Given the description of an element on the screen output the (x, y) to click on. 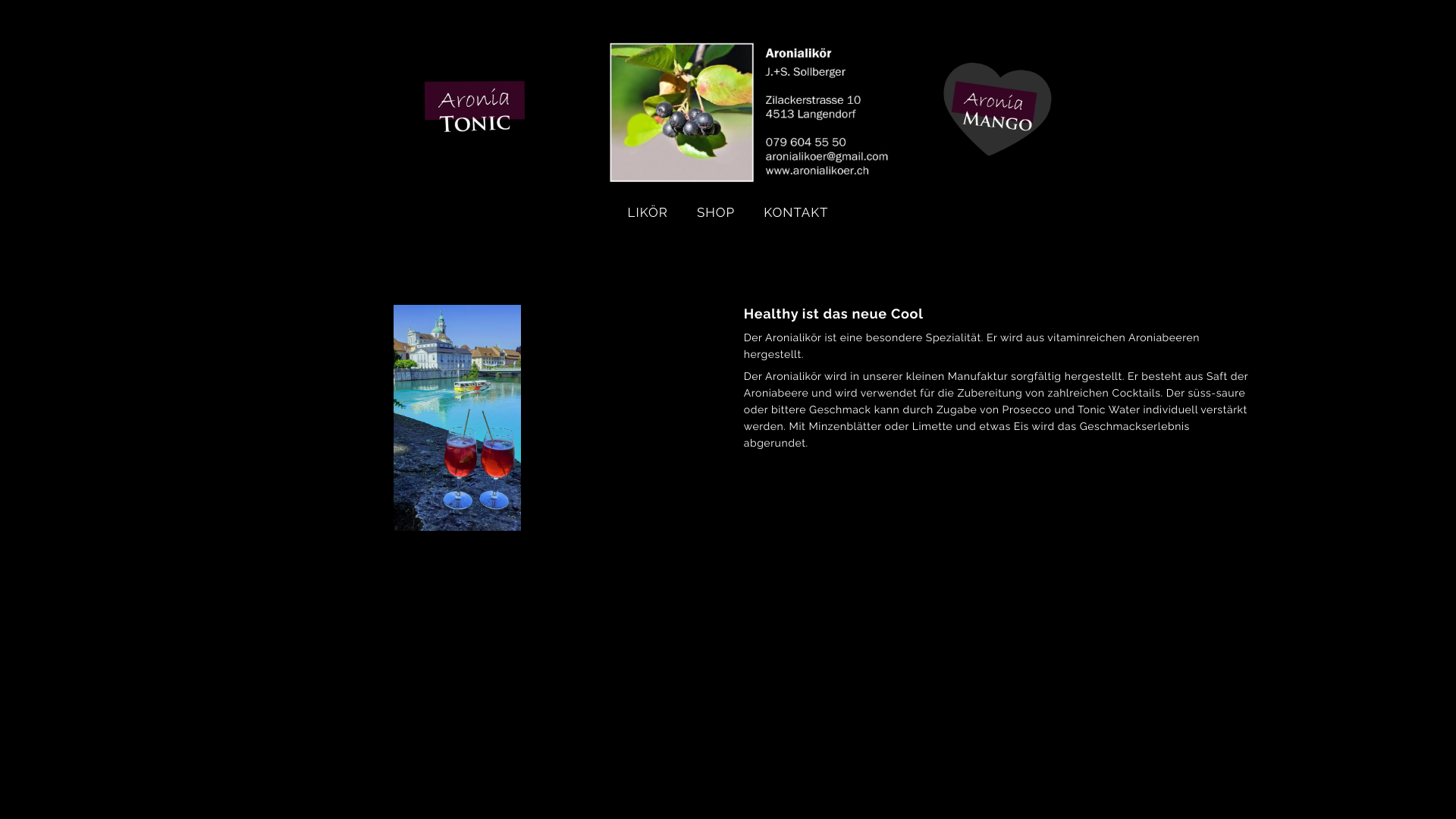
SHOP Element type: text (715, 212)
KONTAKT Element type: text (795, 212)
